Given the description of an element on the screen output the (x, y) to click on. 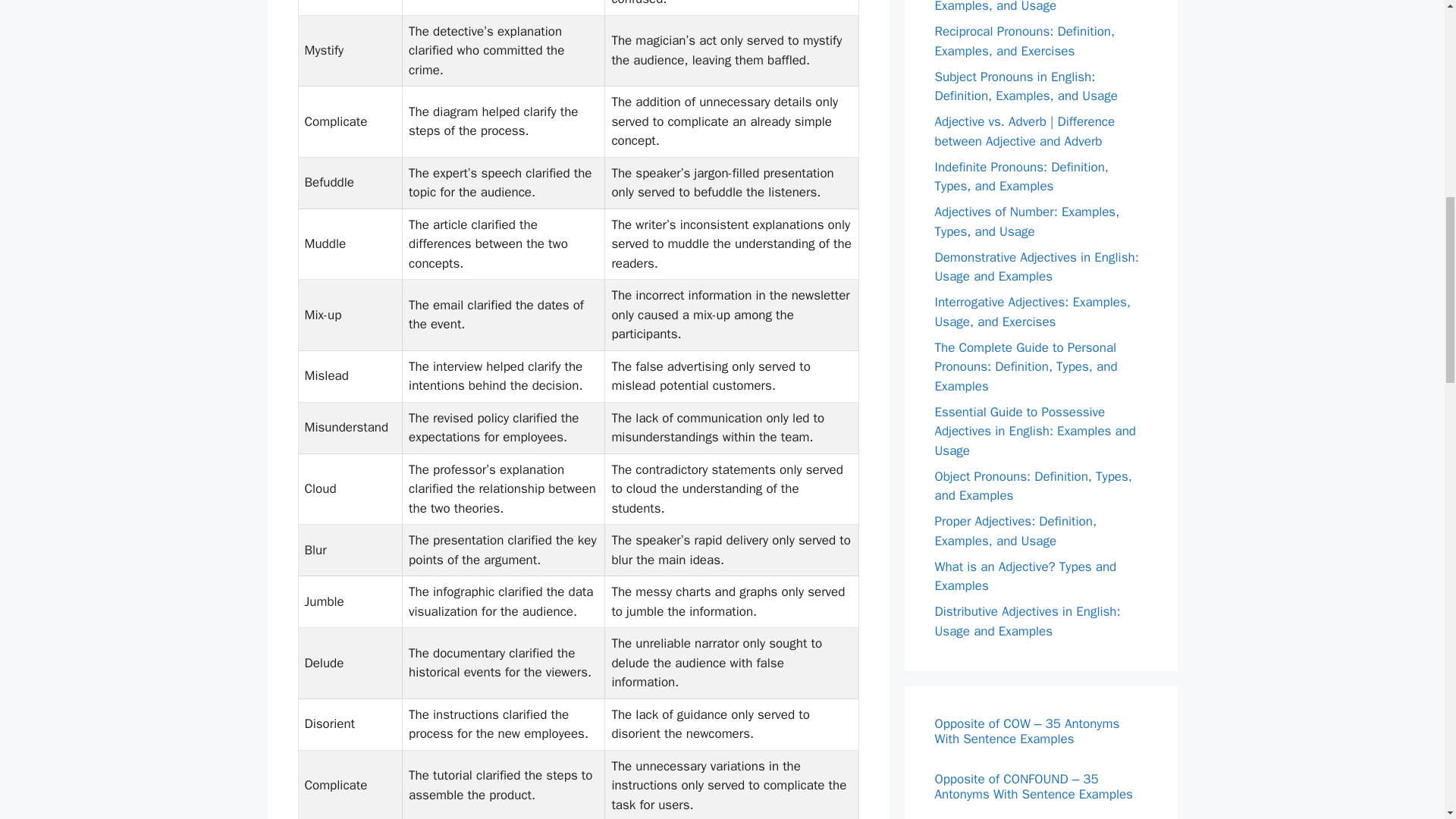
Proper Adjectives: Definition, Examples, and Usage (1015, 530)
Adjectives of Number: Examples, Types, and Usage (1026, 221)
What is an Adjective? Types and Examples (1025, 575)
Distributive Pronouns: Types, Examples, and Usage (1015, 7)
Subject Pronouns in English: Definition, Examples, and Usage (1025, 85)
Demonstrative Adjectives in English: Usage and Examples (1036, 266)
Interrogative Adjectives: Examples, Usage, and Exercises (1031, 312)
Reciprocal Pronouns: Definition, Examples, and Exercises (1024, 40)
Distributive Adjectives in English: Usage and Examples (1026, 621)
Indefinite Pronouns: Definition, Types, and Examples (1021, 176)
Object Pronouns: Definition, Types, and Examples (1032, 486)
